Given the description of an element on the screen output the (x, y) to click on. 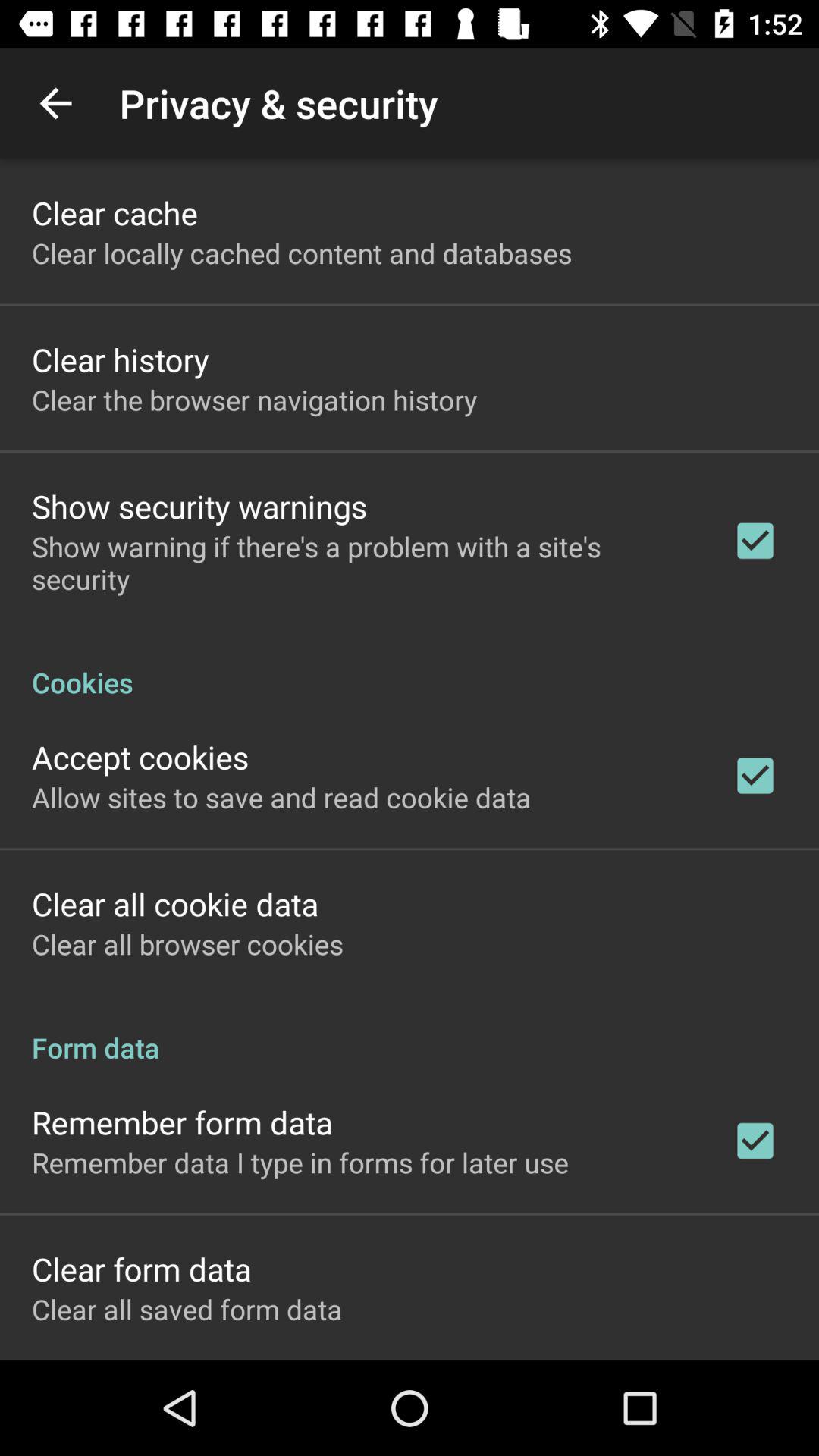
select the item above the clear cache item (55, 103)
